Given the description of an element on the screen output the (x, y) to click on. 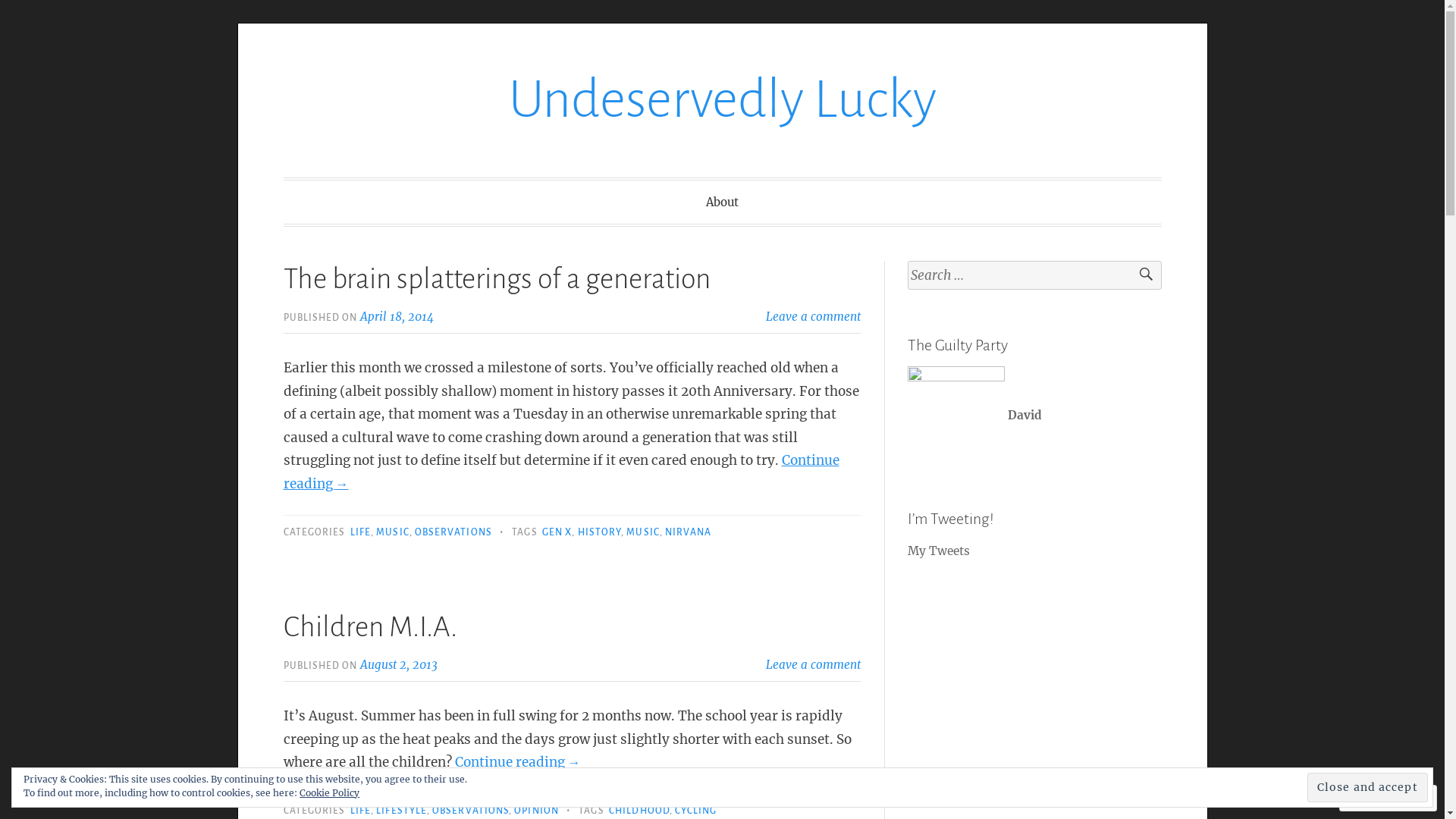
David Element type: text (974, 414)
GEN X Element type: text (556, 532)
Undeservedly Lucky Element type: text (721, 99)
HISTORY Element type: text (599, 532)
CYCLING Element type: text (695, 810)
NIRVANA Element type: text (688, 532)
Follow Element type: text (1373, 797)
April 18, 2014 Element type: text (396, 316)
The brain splatterings of a generation Element type: text (496, 278)
August 2, 2013 Element type: text (398, 664)
OBSERVATIONS Element type: text (453, 532)
MUSIC Element type: text (392, 532)
OBSERVATIONS Element type: text (470, 810)
Leave a comment Element type: text (812, 664)
Search Element type: text (1138, 275)
LIFE Element type: text (360, 532)
My Tweets Element type: text (938, 550)
Close and accept Element type: text (1367, 787)
LIFE Element type: text (360, 810)
Leave a comment Element type: text (812, 316)
OPINION Element type: text (536, 810)
MUSIC Element type: text (642, 532)
Cookie Policy Element type: text (329, 792)
CHILDHOOD Element type: text (638, 810)
About Element type: text (721, 201)
LIFESTYLE Element type: text (401, 810)
Children M.I.A. Element type: text (370, 626)
